Given the description of an element on the screen output the (x, y) to click on. 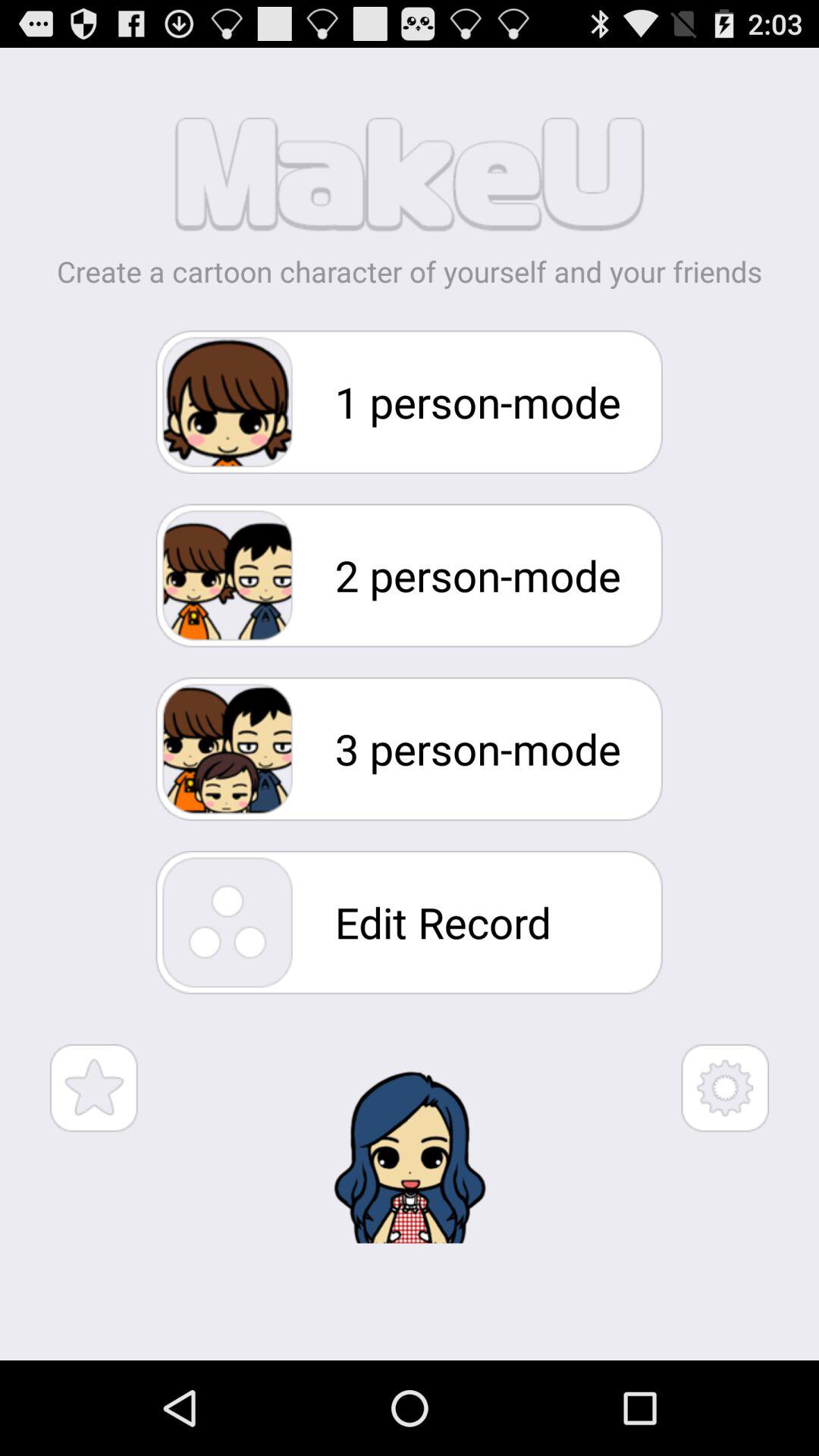
add favorite (93, 1087)
